Given the description of an element on the screen output the (x, y) to click on. 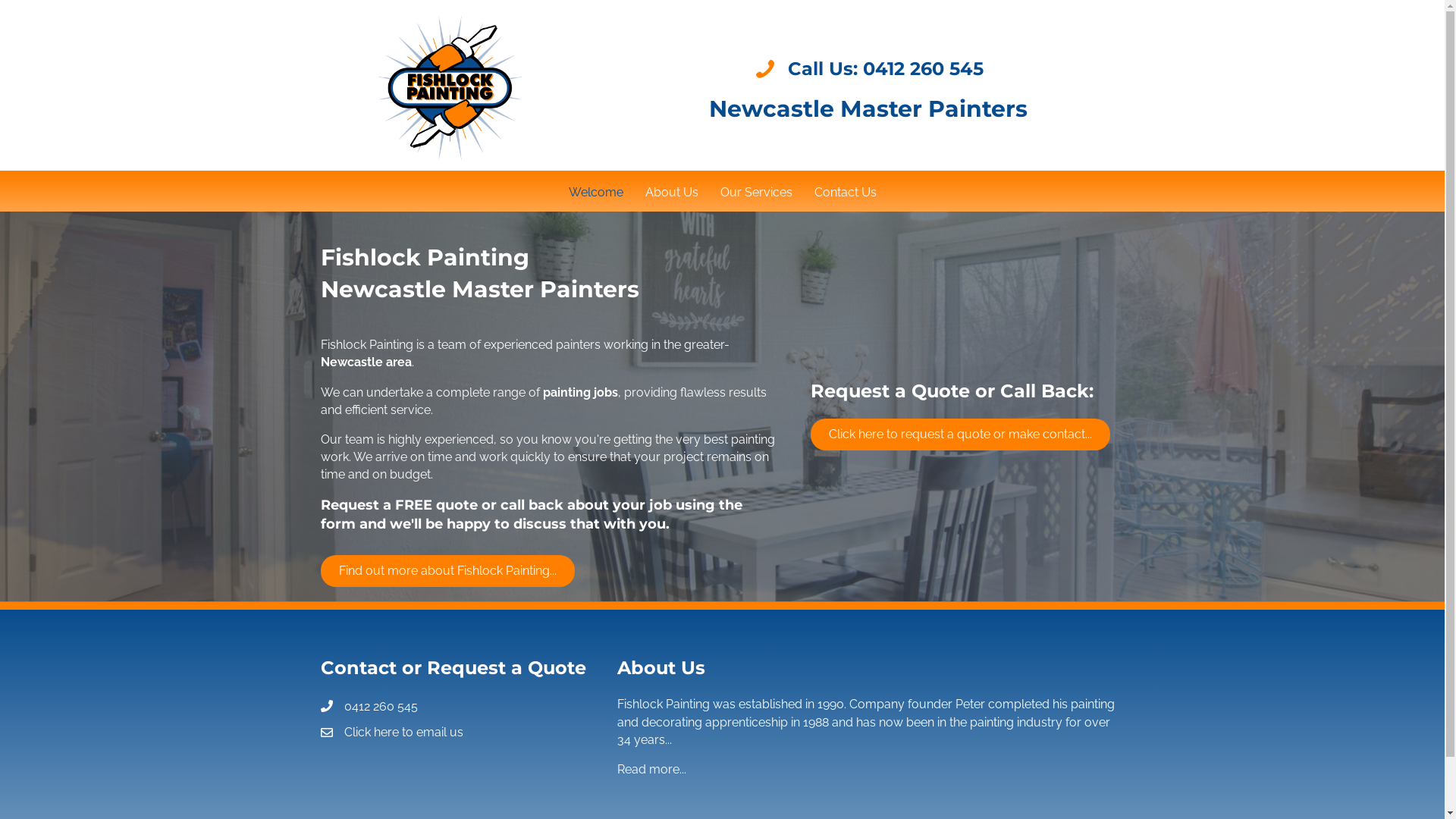
Our Services Element type: text (756, 191)
0412 260 545 Element type: text (380, 706)
Find out more about Fishlock Painting... Element type: text (447, 570)
Call Us: 0412 260 545 Element type: text (884, 68)
Click here to request a quote or make contact... Element type: text (960, 434)
About Us Element type: text (670, 191)
Click here to email us Element type: text (403, 731)
Welcome Element type: text (595, 191)
Read more... Element type: text (651, 769)
Contact Us Element type: text (845, 191)
Fishlock Painting Element type: hover (451, 87)
